Given the description of an element on the screen output the (x, y) to click on. 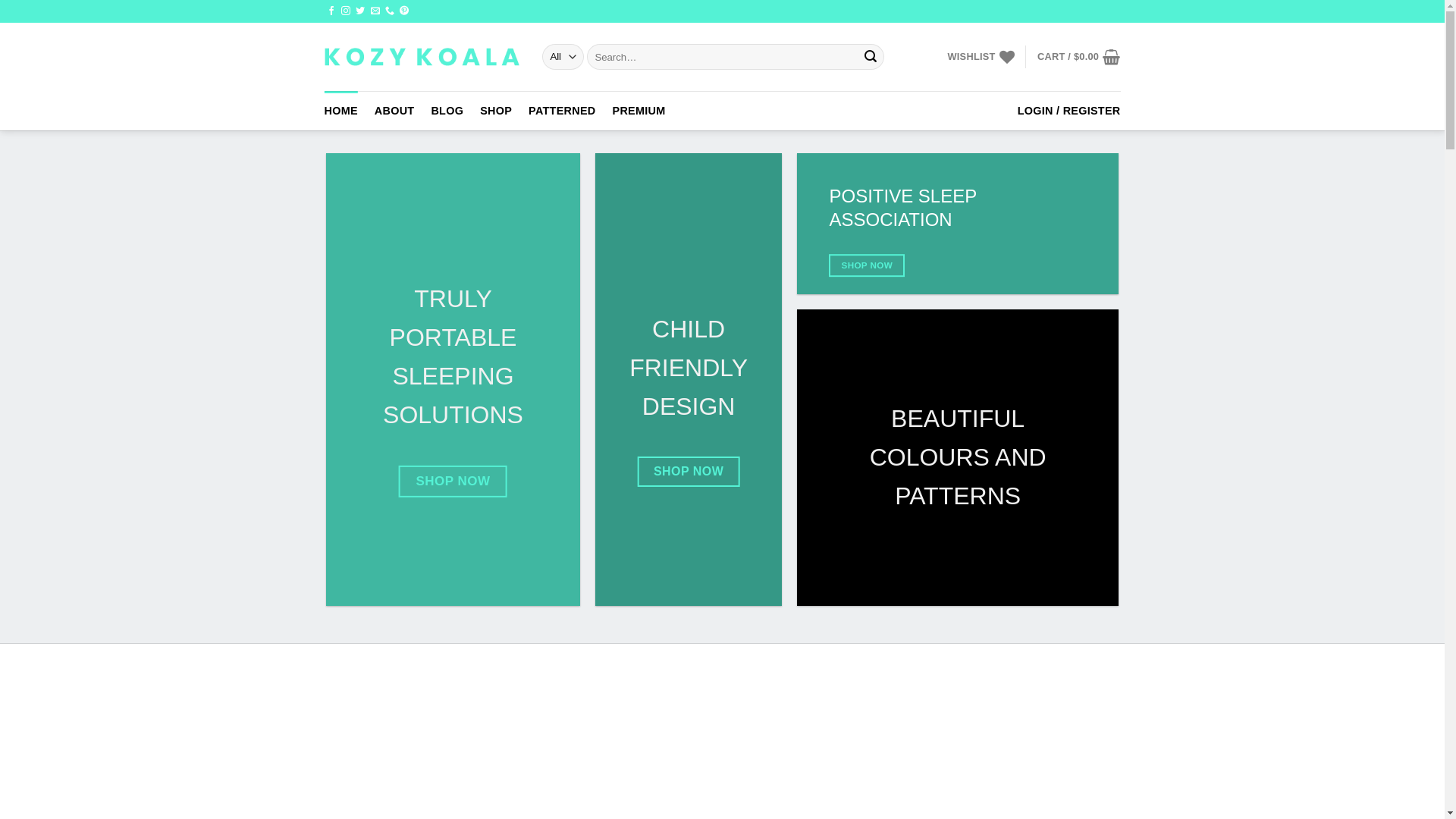
BLOG Element type: text (446, 110)
Follow on Twitter Element type: hover (359, 11)
SHOP NOW Element type: text (866, 265)
Send us an email Element type: hover (374, 11)
Search Element type: text (870, 56)
CART / $0.00 Element type: text (1078, 56)
SHOP NOW Element type: text (688, 471)
Follow on Facebook Element type: hover (330, 11)
Follow on Instagram Element type: hover (345, 11)
HOME Element type: text (340, 110)
SHOP NOW Element type: text (452, 481)
PATTERNED Element type: text (561, 110)
PREMIUM Element type: text (638, 110)
ABOUT Element type: text (394, 110)
Follow on Pinterest Element type: hover (403, 11)
LOGIN / REGISTER Element type: text (1068, 110)
Call us Element type: hover (389, 11)
WISHLIST Element type: text (980, 56)
Kozy Koala Element type: hover (421, 56)
SHOP Element type: text (495, 110)
